Given the description of an element on the screen output the (x, y) to click on. 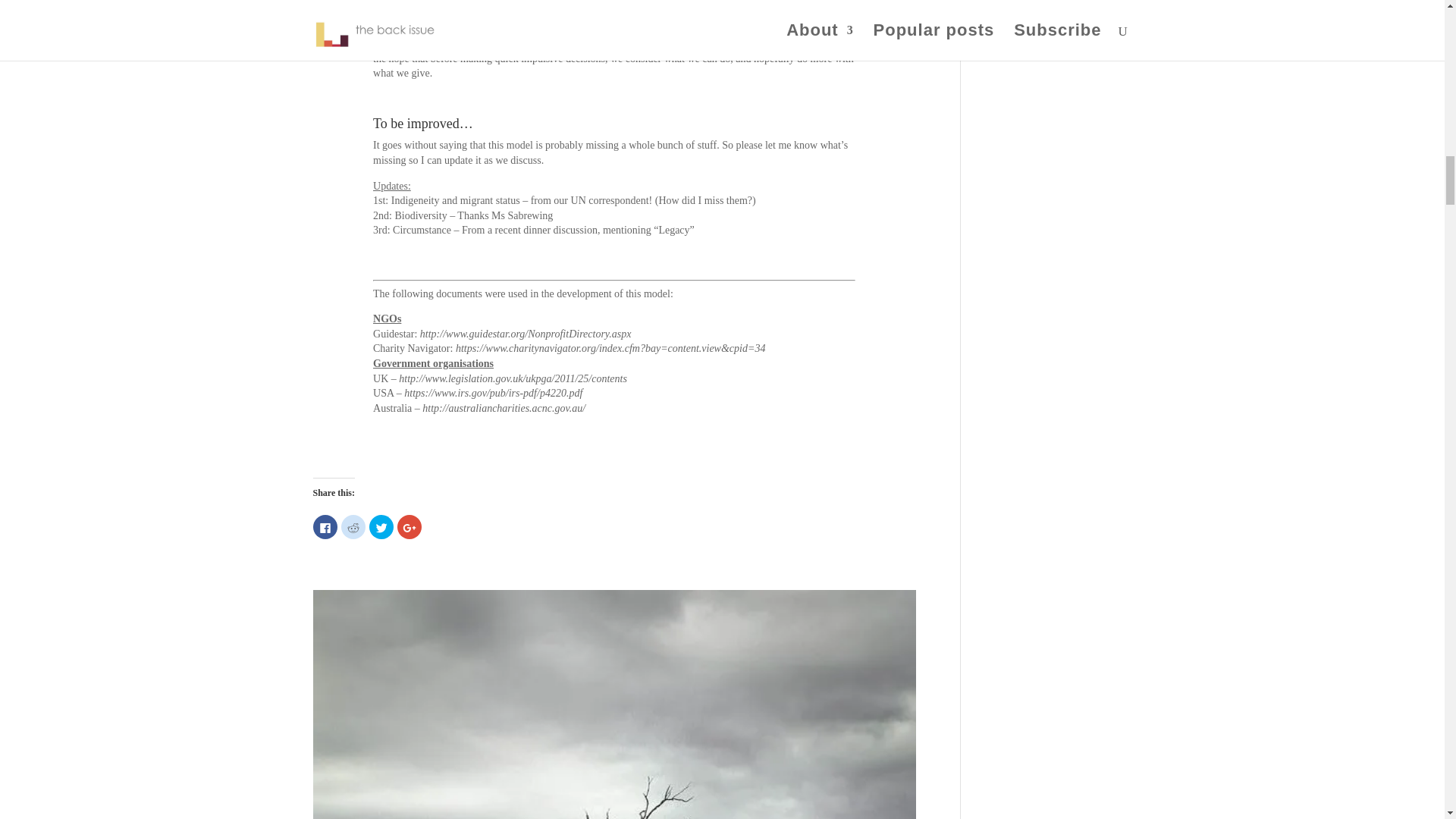
Click to share on Reddit (352, 526)
Click to share on Facebook (324, 526)
Click to share on Twitter (380, 526)
